Given the description of an element on the screen output the (x, y) to click on. 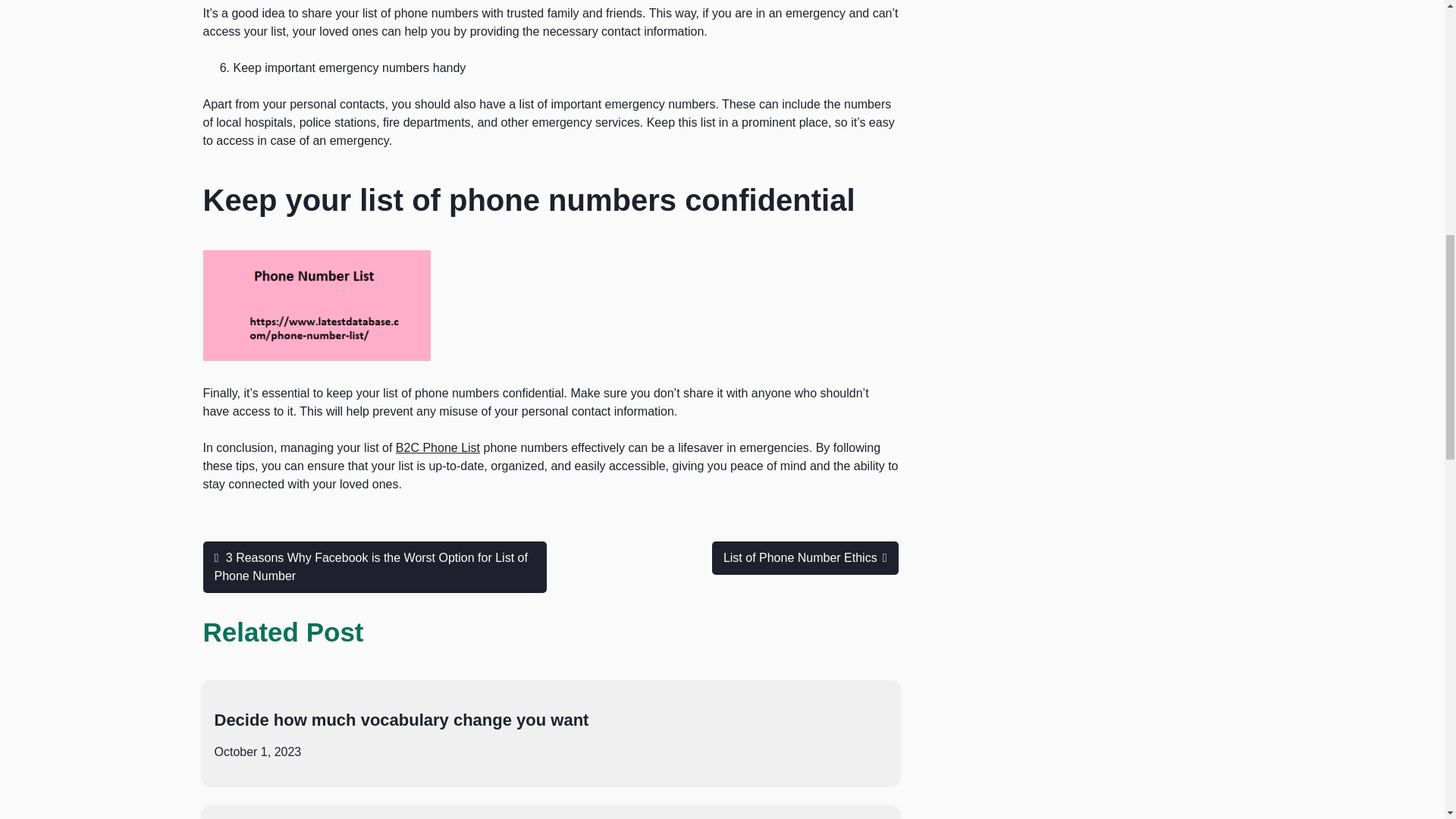
B2C Phone List (438, 447)
October 1, 2023 (257, 751)
Decide how much vocabulary change you want (401, 719)
List of Phone Number Ethics (804, 557)
